Given the description of an element on the screen output the (x, y) to click on. 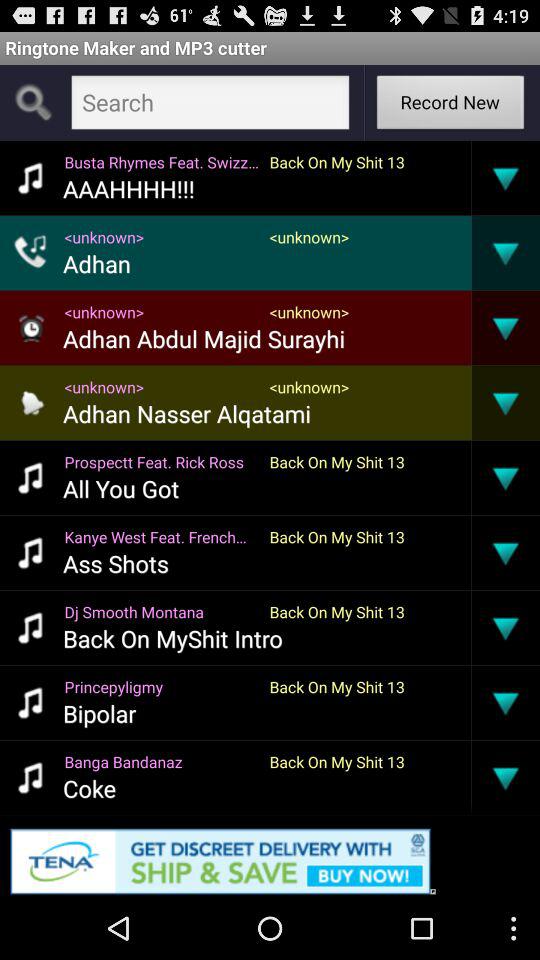
select the icon above the coke (161, 761)
